Given the description of an element on the screen output the (x, y) to click on. 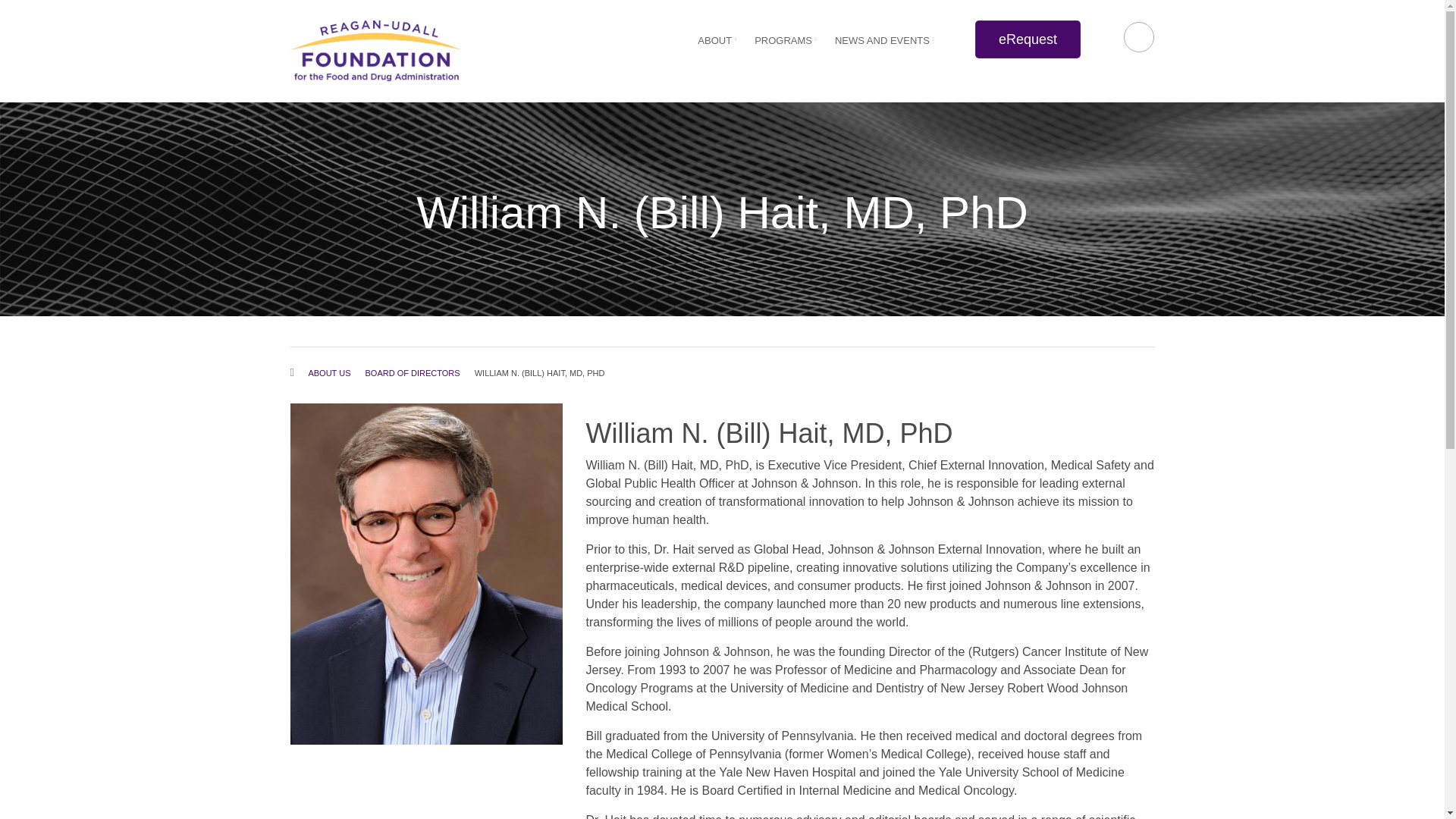
Home (375, 49)
